Given the description of an element on the screen output the (x, y) to click on. 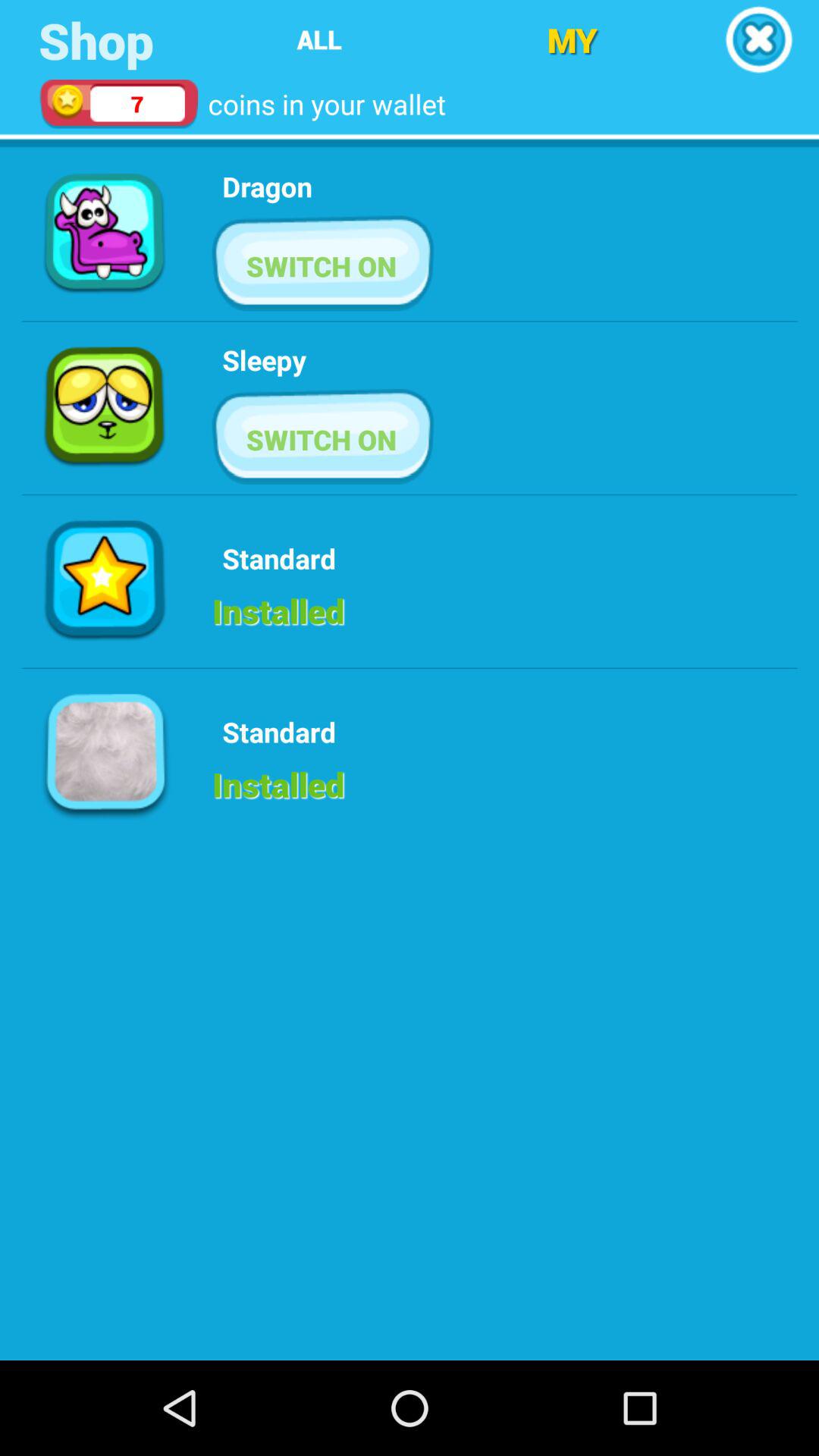
choose app below the coins in your (267, 186)
